Given the description of an element on the screen output the (x, y) to click on. 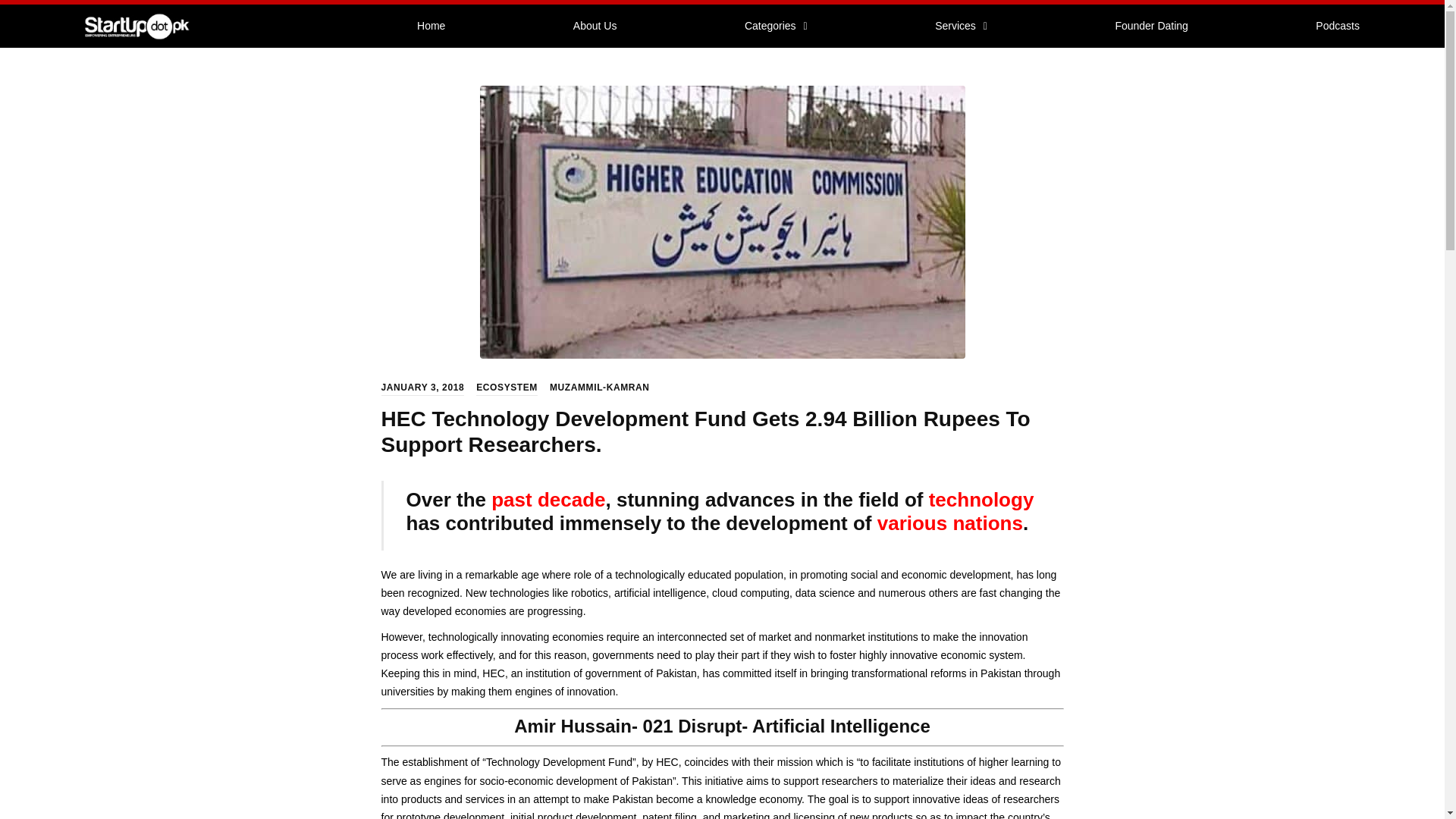
About Us (595, 25)
Categories (775, 25)
Founder Dating (1150, 25)
Services (960, 25)
Home (430, 25)
Podcasts (1337, 25)
